Given the description of an element on the screen output the (x, y) to click on. 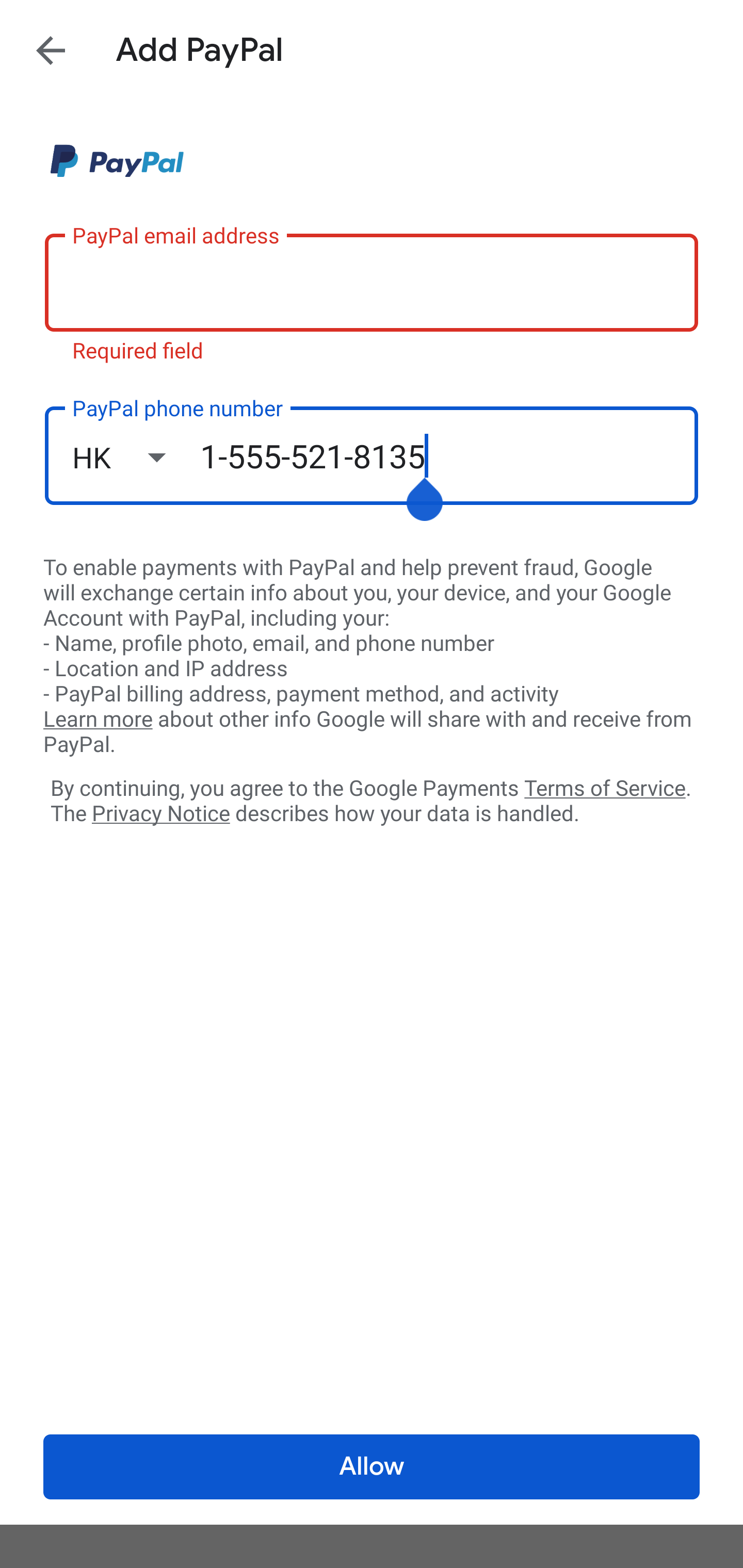
Navigate up (50, 50)
HK (135, 456)
Learn more (97, 719)
Terms of Service (604, 787)
Privacy Notice (160, 814)
Allow (371, 1466)
